Given the description of an element on the screen output the (x, y) to click on. 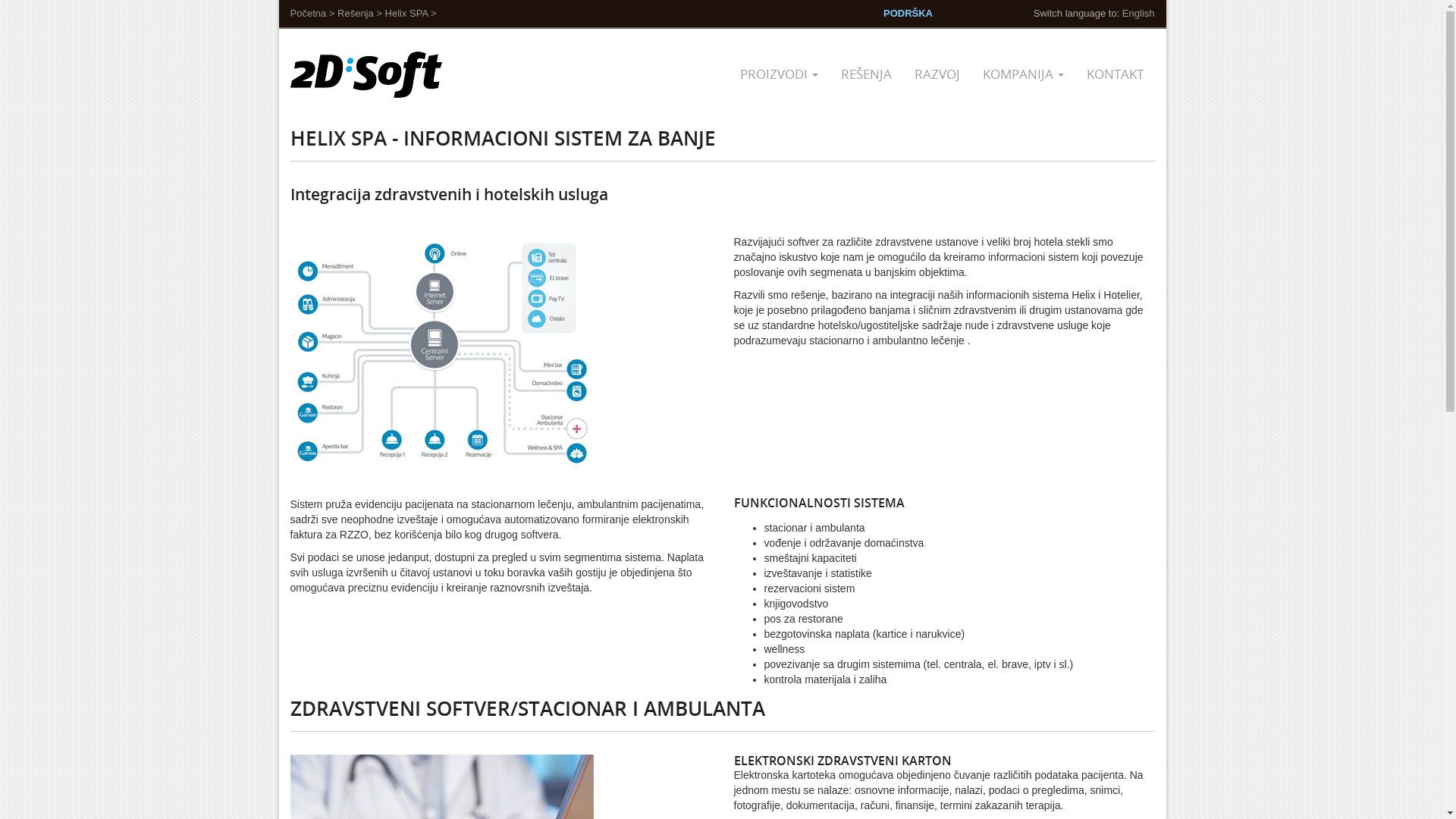
English Element type: text (1138, 12)
PROIZVODI Element type: text (778, 73)
KONTAKT Element type: text (1114, 73)
Helix SPA > Element type: text (410, 12)
KOMPANIJA Element type: text (1022, 73)
RAZVOJ Element type: text (936, 73)
